Given the description of an element on the screen output the (x, y) to click on. 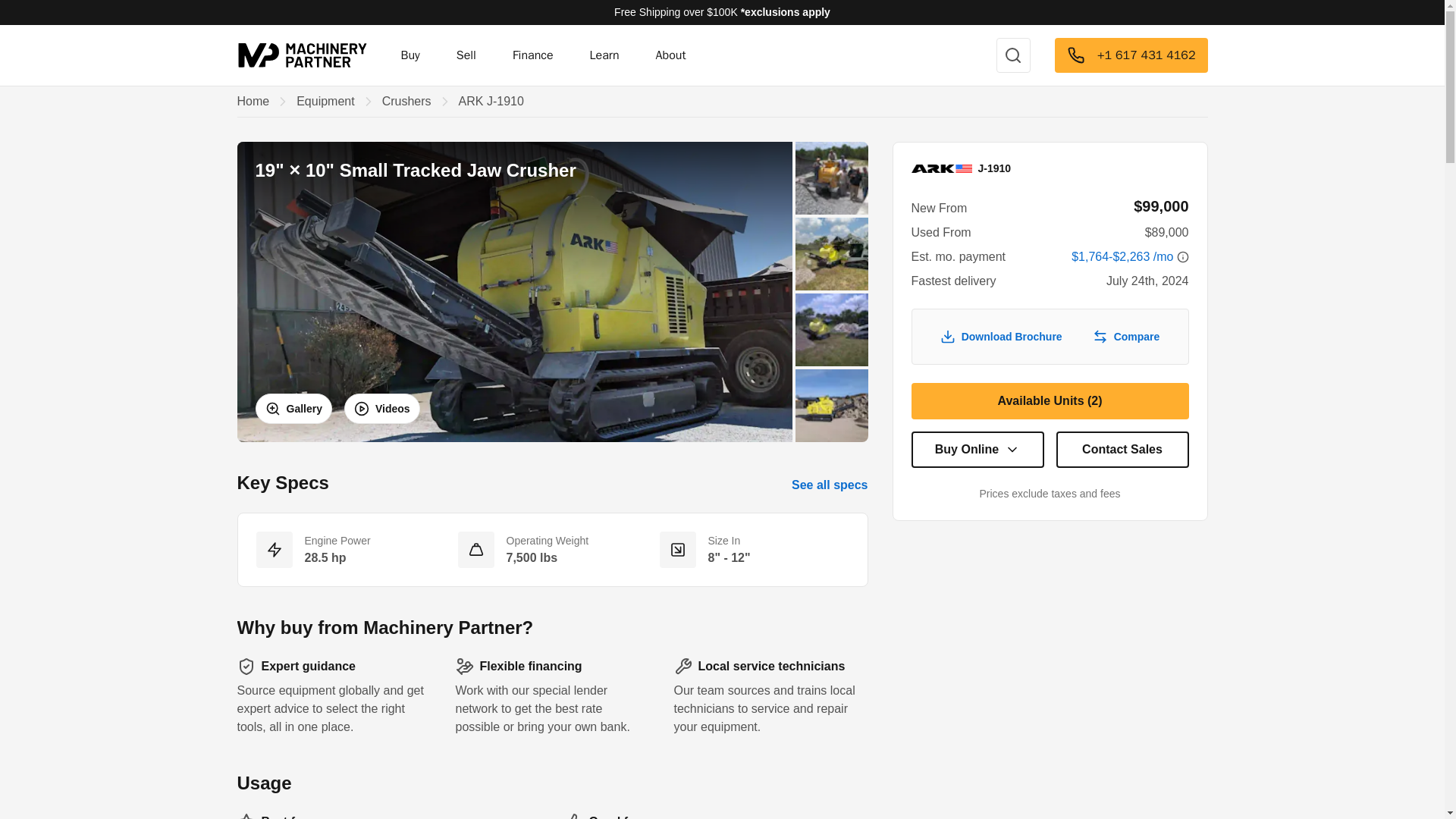
Gallery (292, 408)
Videos (381, 408)
Download Brochure (1001, 336)
Compare (1126, 336)
Equipment (326, 101)
Buy Online (977, 449)
Contact Sales (1121, 449)
See all specs (829, 484)
Home (252, 101)
Finance (533, 55)
Crushers (405, 101)
